Given the description of an element on the screen output the (x, y) to click on. 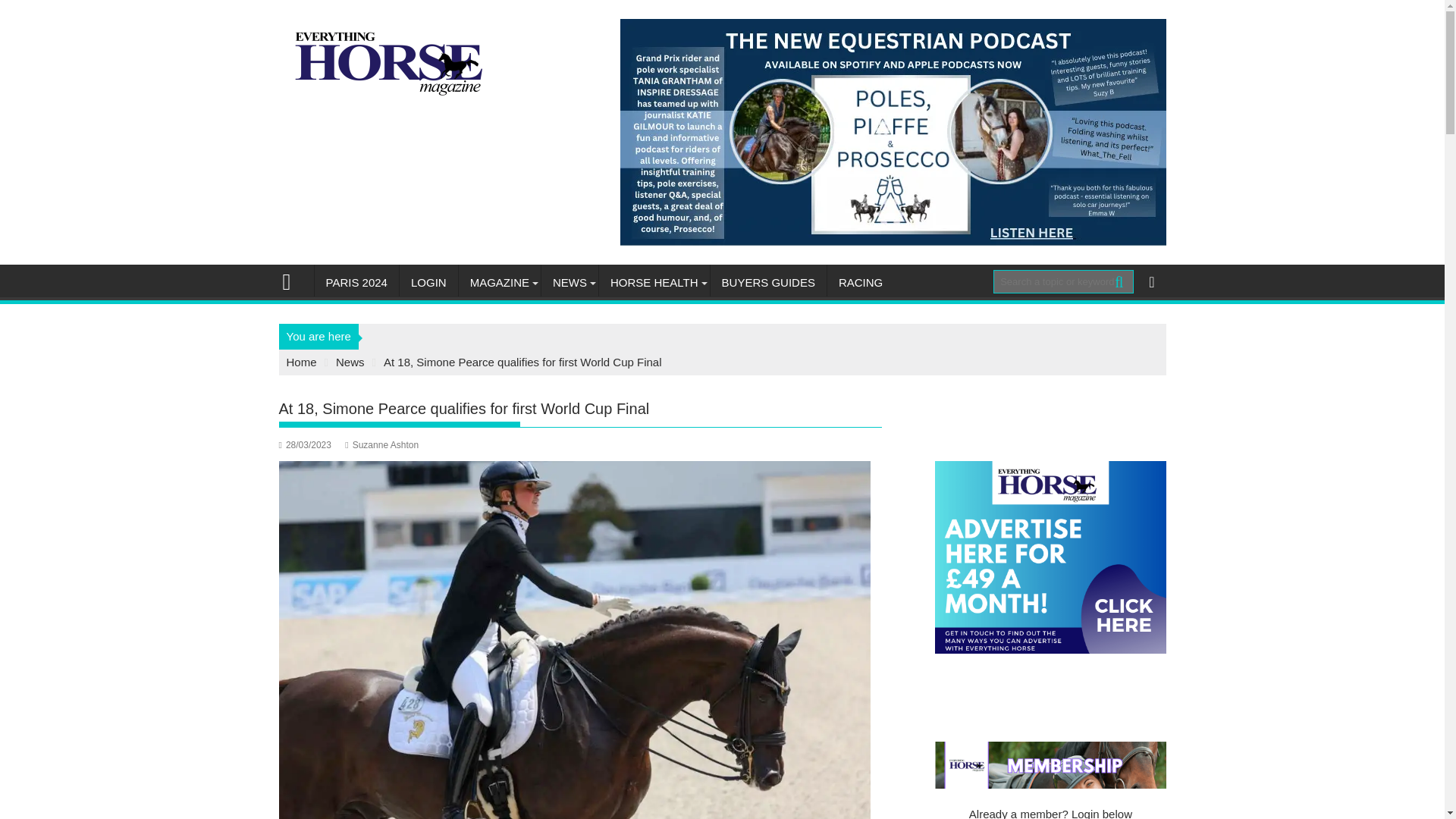
PARIS 2024 (355, 282)
NEWS (569, 282)
BUYERS GUIDES (768, 282)
RACING (860, 282)
MAGAZINE (499, 282)
HORSE HEALTH (654, 282)
Everything Horse Magazine (293, 280)
LOGIN (428, 282)
